Given the description of an element on the screen output the (x, y) to click on. 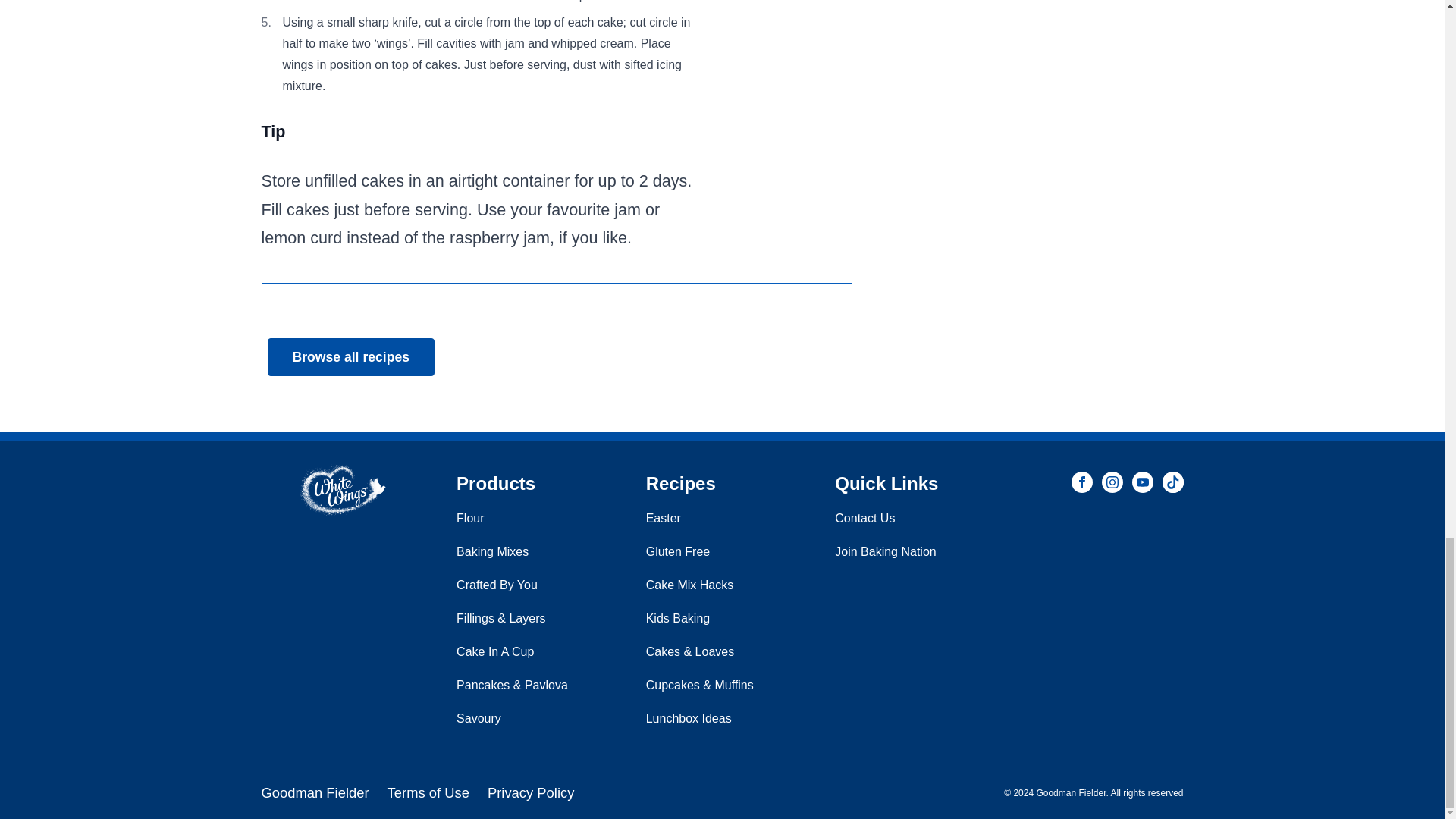
Contact us (864, 517)
Crafted By You (497, 584)
Flour (470, 517)
Baking Mixes (492, 551)
Browse all recipes (349, 356)
Cake In A Cup (495, 651)
